Given the description of an element on the screen output the (x, y) to click on. 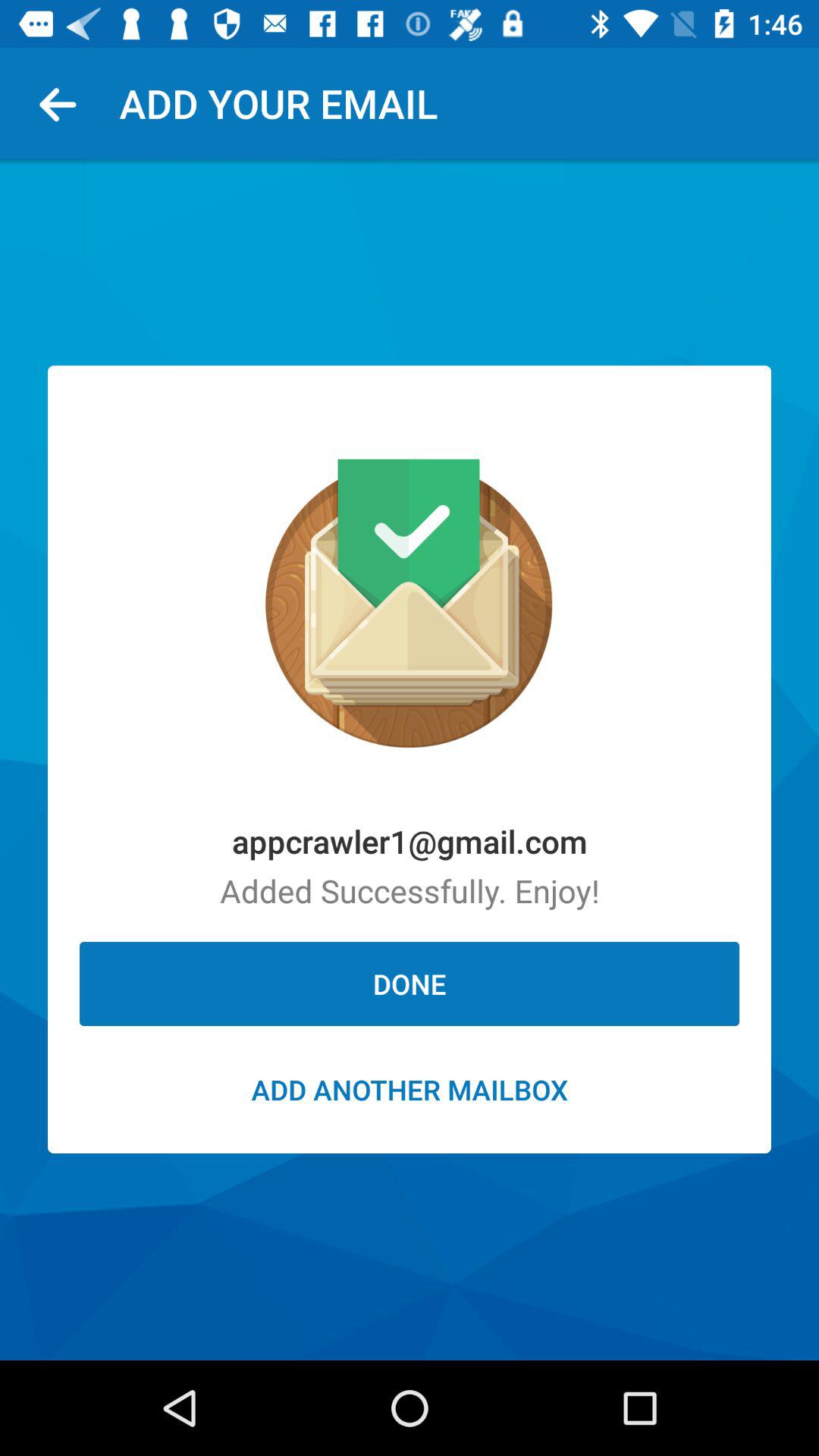
turn off app next to add your email icon (63, 103)
